Given the description of an element on the screen output the (x, y) to click on. 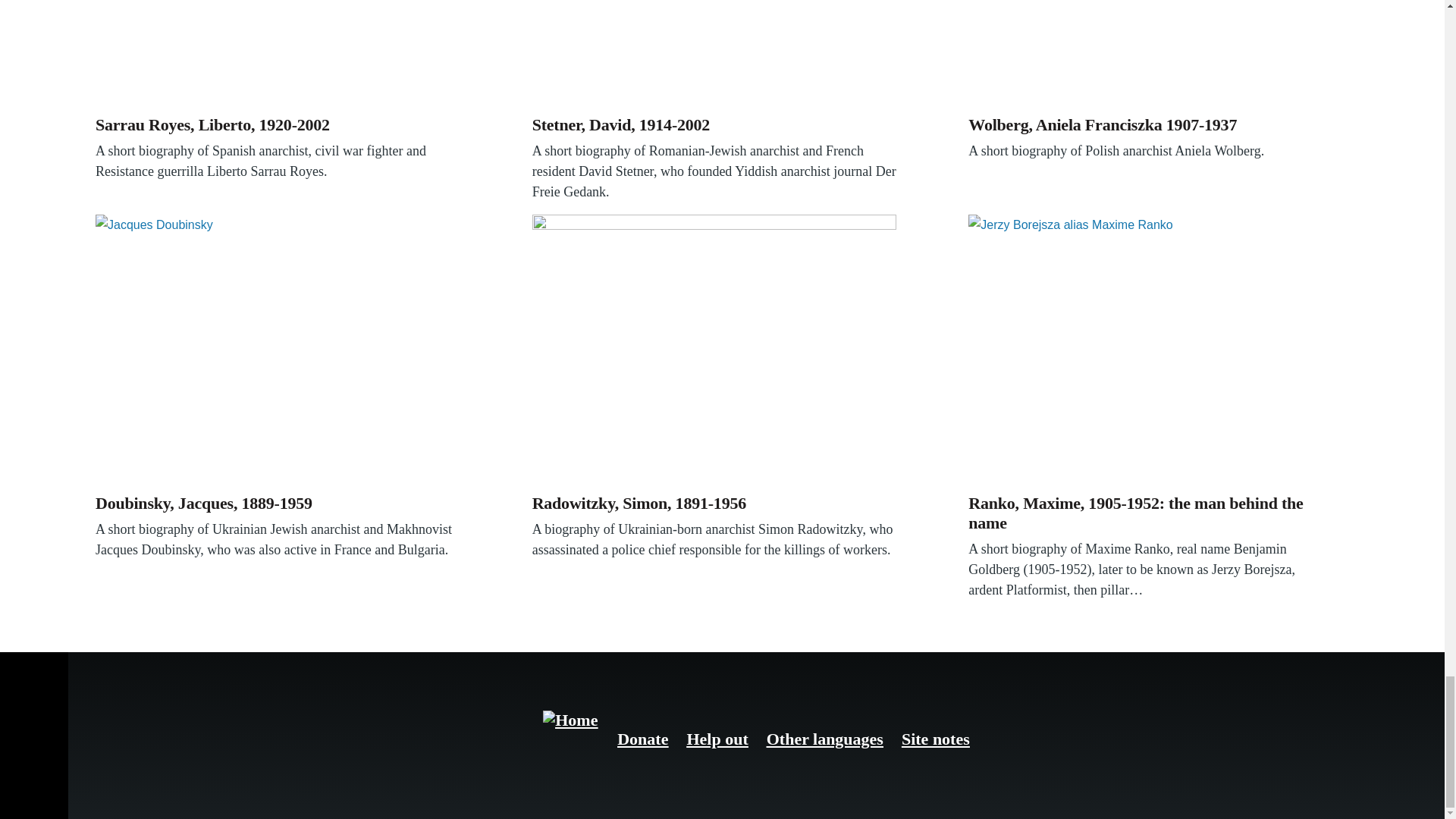
Jerzy Borejsza alias Maxime Ranko (1150, 350)
Simon Radowitzky, between police officers in 1930 (714, 350)
Jacques Doubinsky (278, 350)
Aniela Wolberg (1150, 54)
David Stetner in 1957 (714, 54)
libcom content in languages other than English (825, 738)
